Given the description of an element on the screen output the (x, y) to click on. 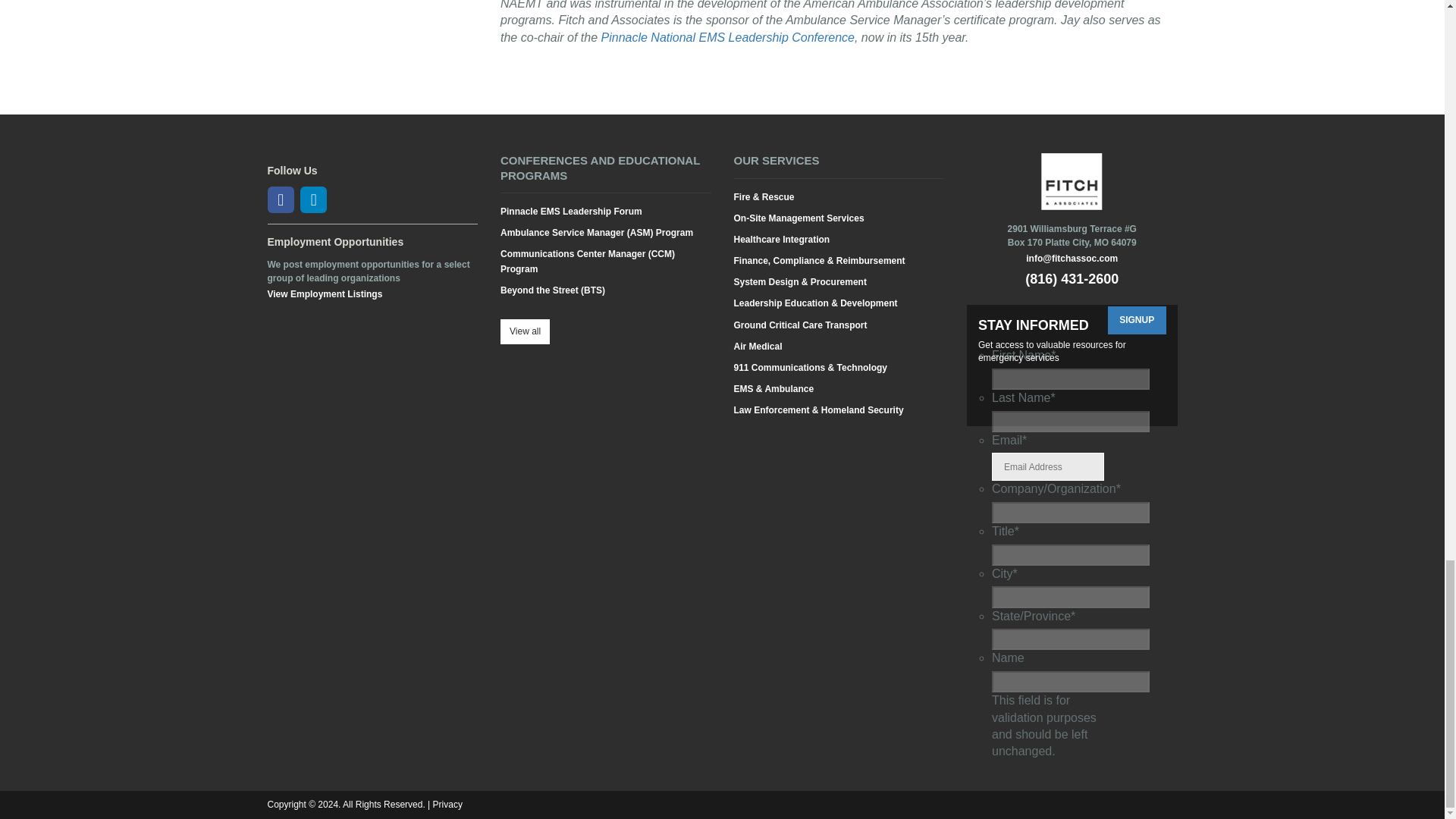
Signup (1137, 320)
